Given the description of an element on the screen output the (x, y) to click on. 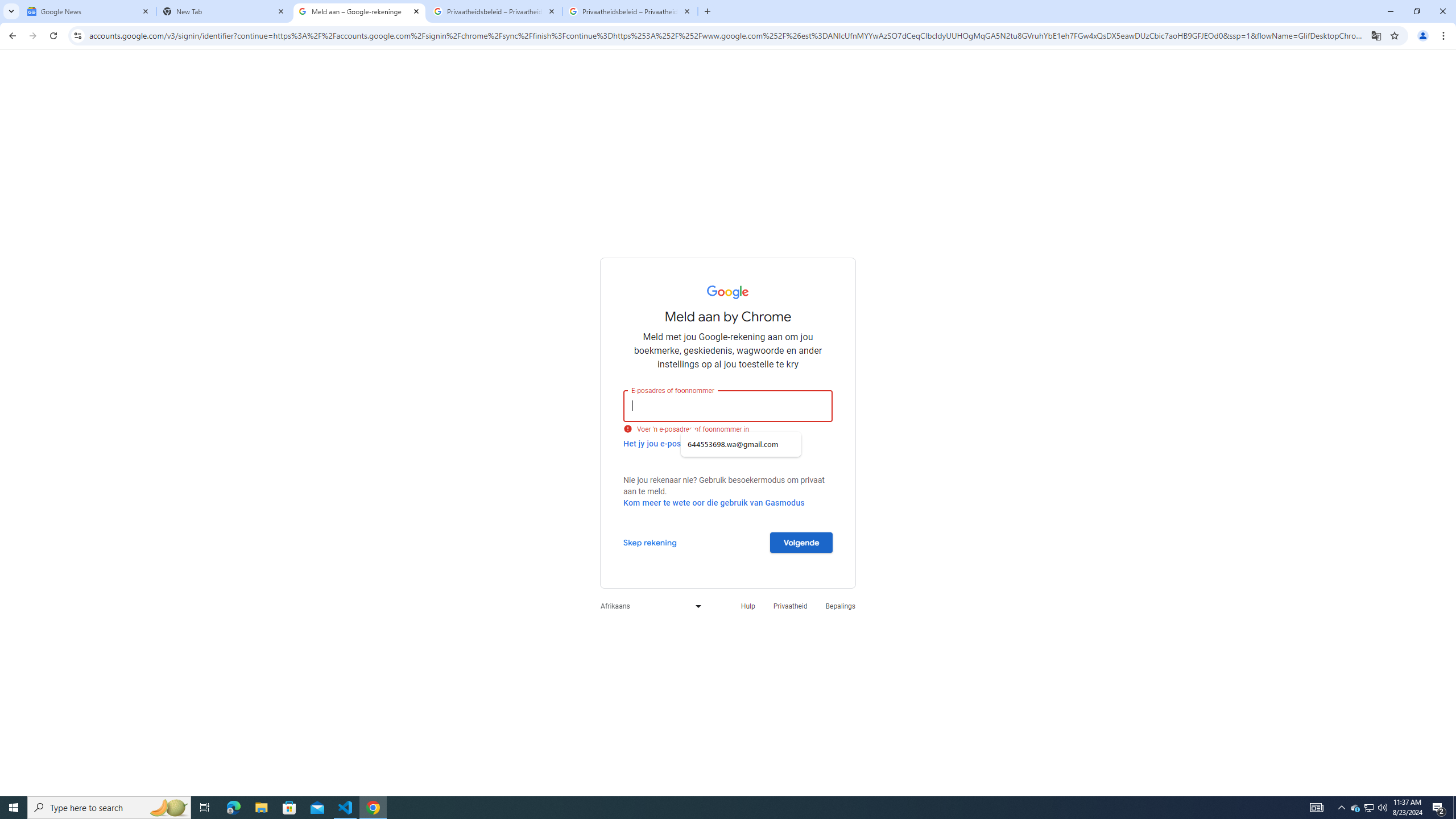
Afrikaans (647, 605)
Bepalings (840, 605)
